Given the description of an element on the screen output the (x, y) to click on. 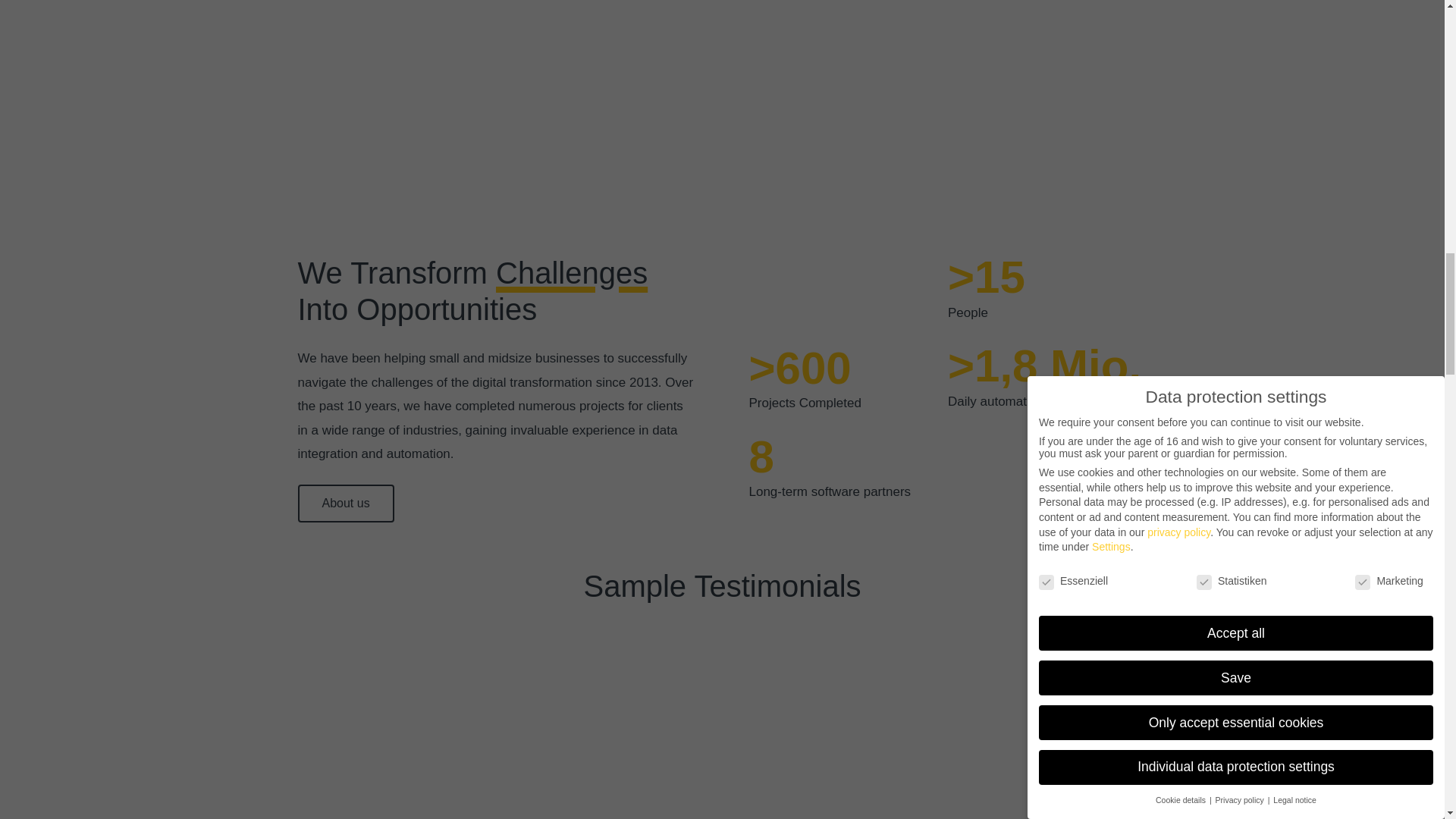
About us (345, 503)
